Given the description of an element on the screen output the (x, y) to click on. 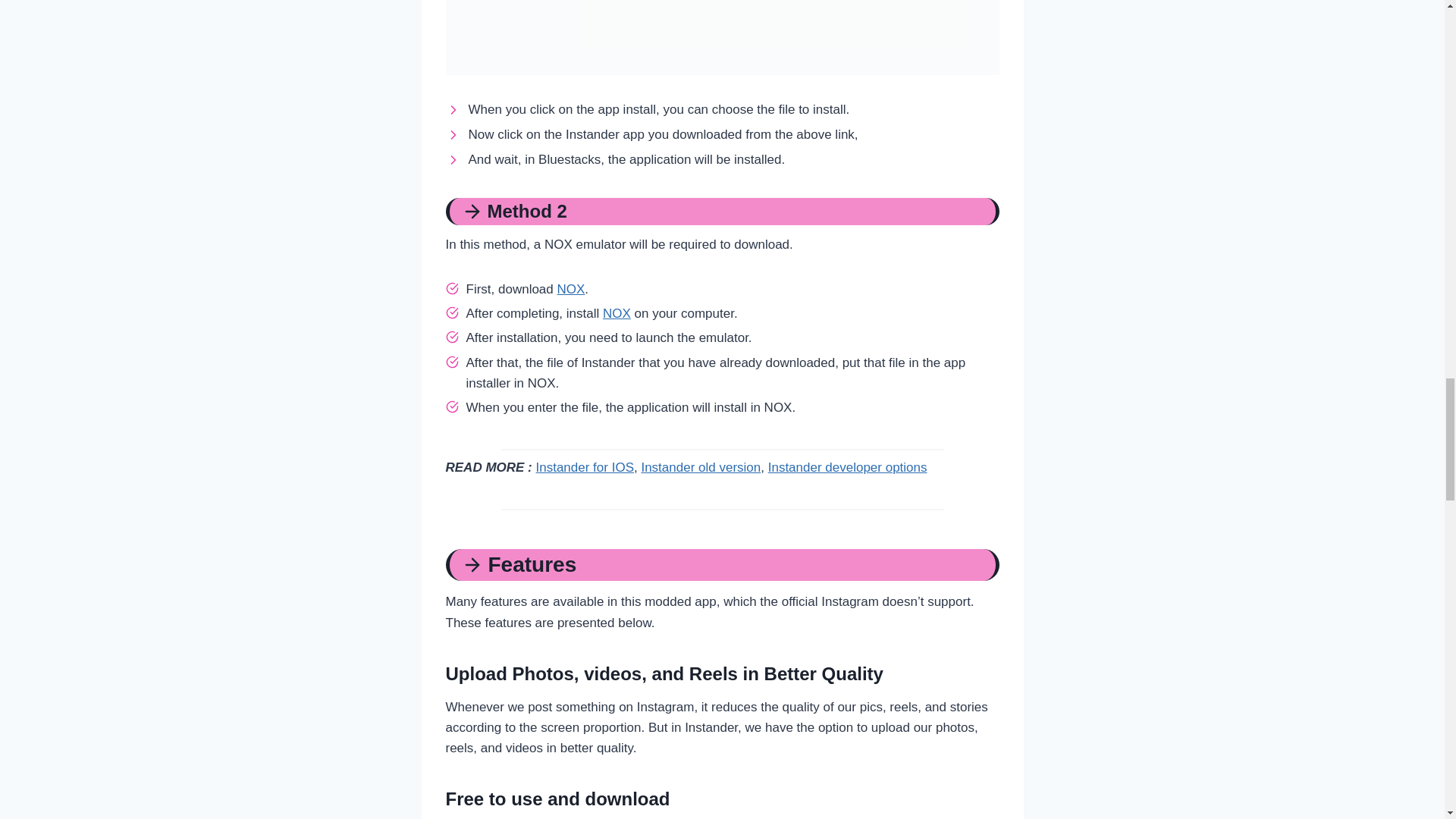
NOX (616, 313)
NOX (570, 288)
Instander old version (700, 467)
Instander for IOS (584, 467)
Instander developer options (847, 467)
